Given the description of an element on the screen output the (x, y) to click on. 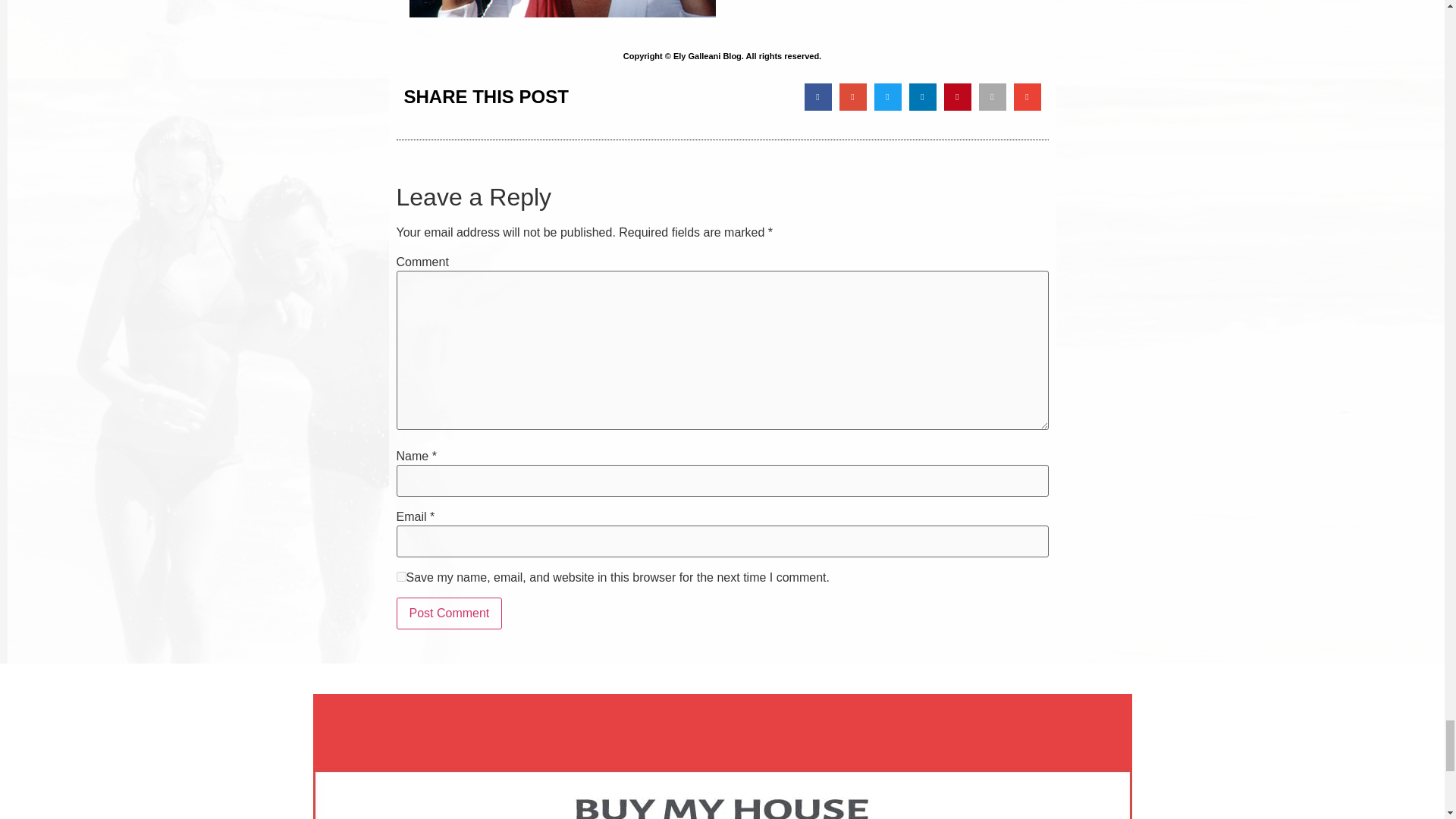
Post Comment (449, 613)
Post Comment (449, 613)
yes (401, 576)
